Given the description of an element on the screen output the (x, y) to click on. 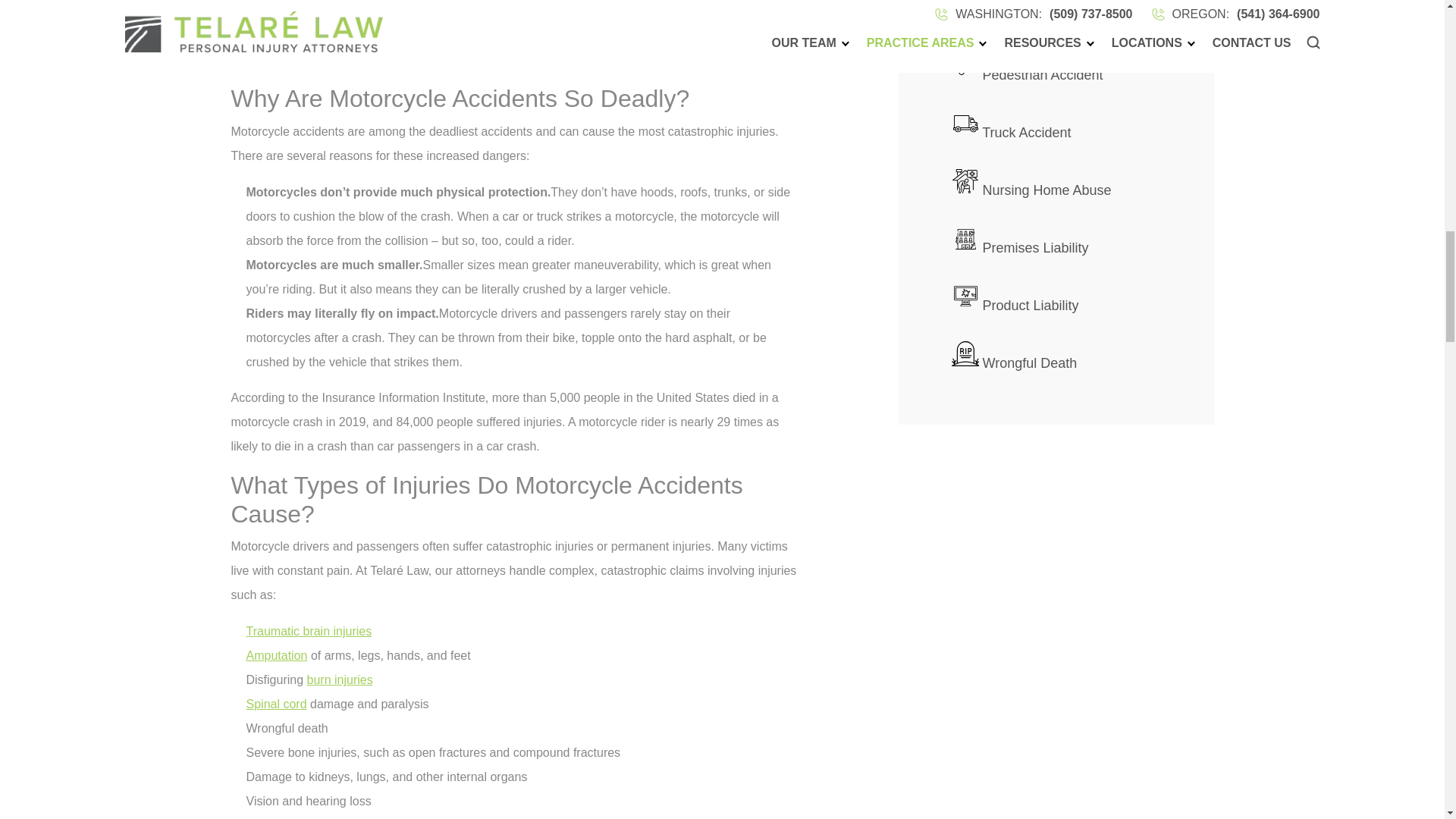
burn injuries (339, 679)
Traumatic brain injuries (308, 631)
Spinal cord (275, 703)
Amputation (276, 655)
